Given the description of an element on the screen output the (x, y) to click on. 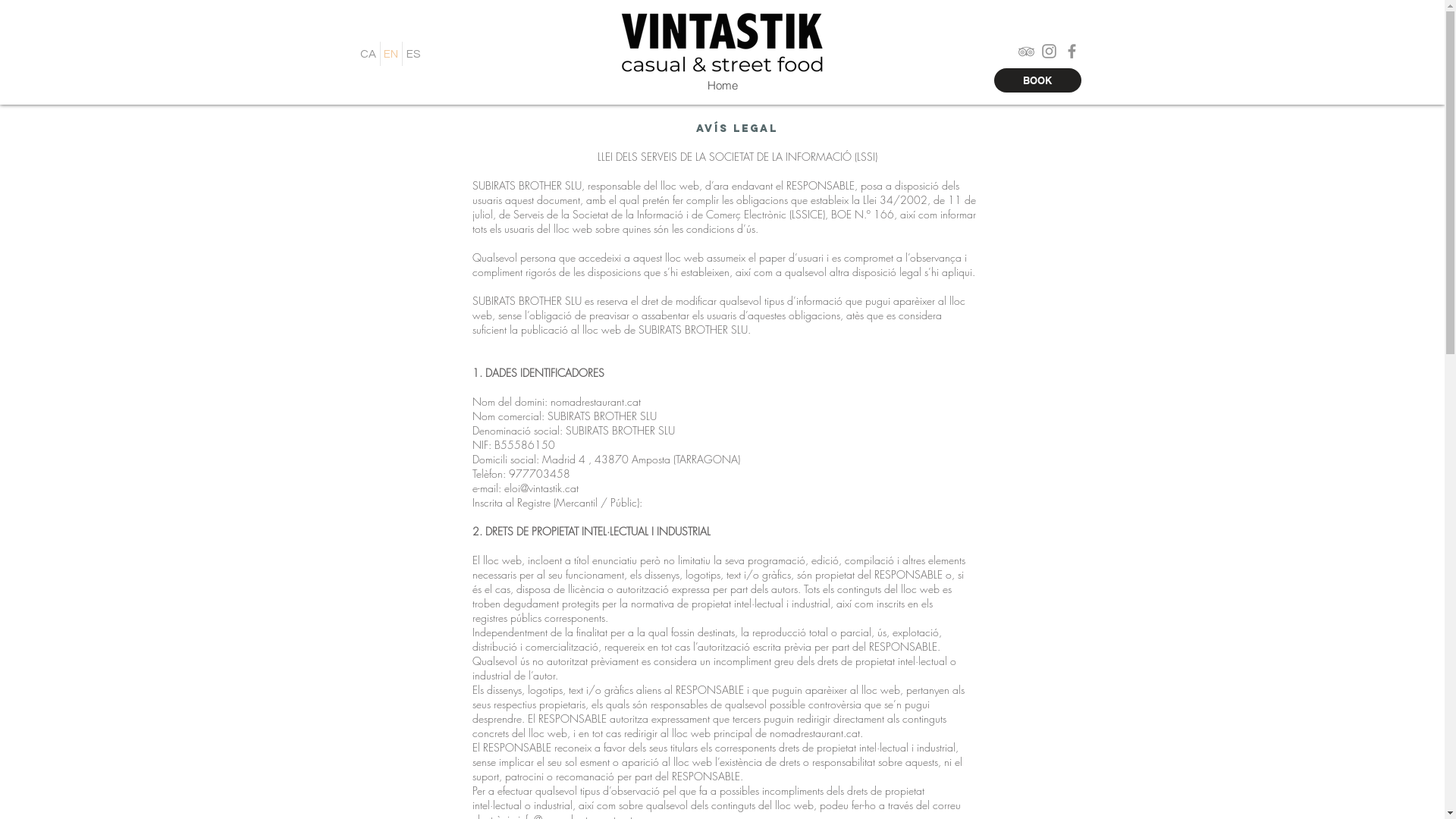
ES Element type: text (412, 53)
EN Element type: text (390, 53)
Home Element type: text (722, 85)
eloi@vintastik.cat Element type: text (540, 487)
CA Element type: text (367, 53)
BOOK Element type: text (1036, 80)
logo restaurate Element type: hover (721, 40)
